Given the description of an element on the screen output the (x, y) to click on. 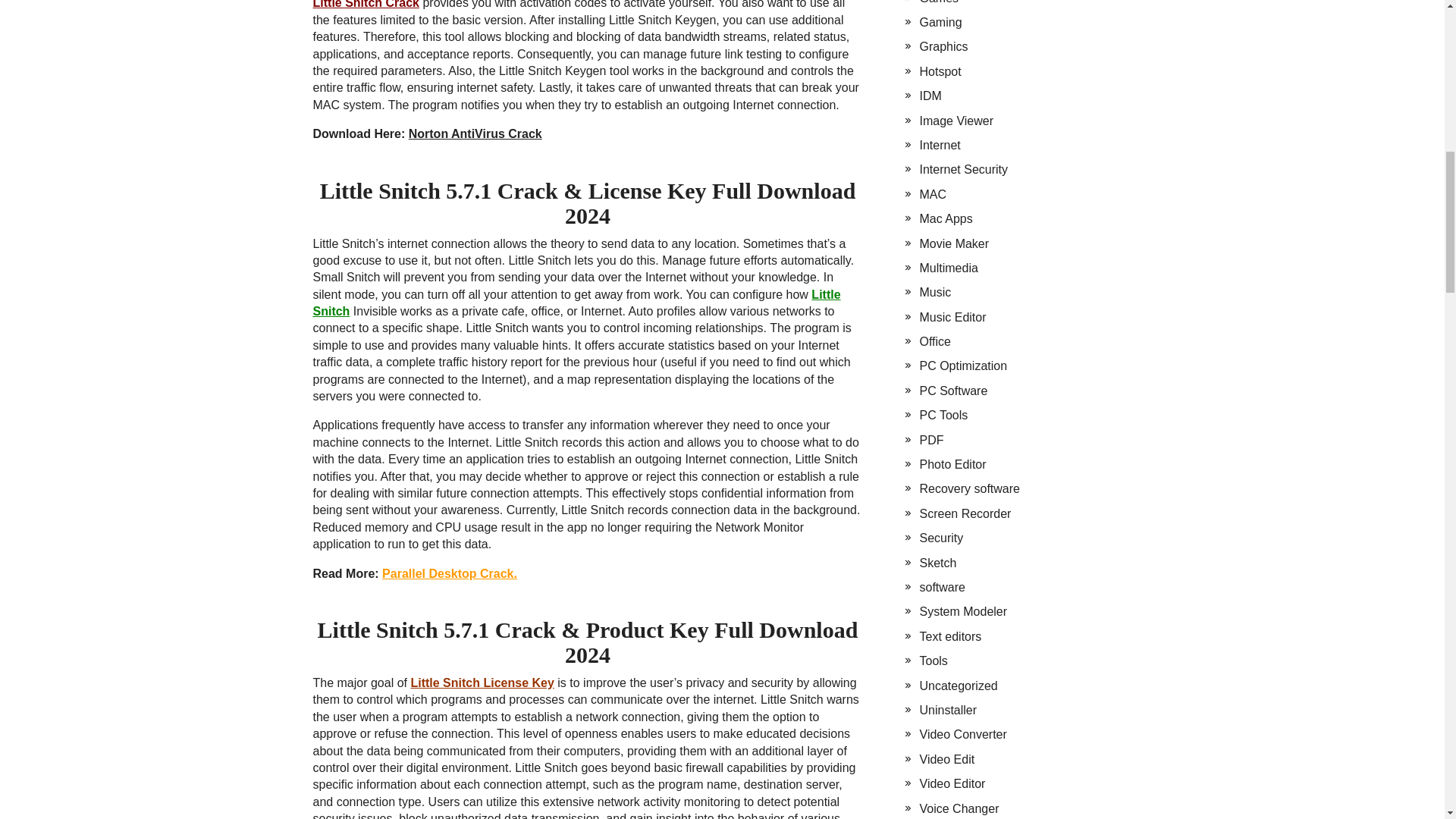
Parallel Desktop Crack. (448, 573)
Little Snitch License Key (481, 682)
Little Snitch Crack (366, 4)
Little Snitch (576, 302)
Norton AntiVirus Crack (475, 133)
